Given the description of an element on the screen output the (x, y) to click on. 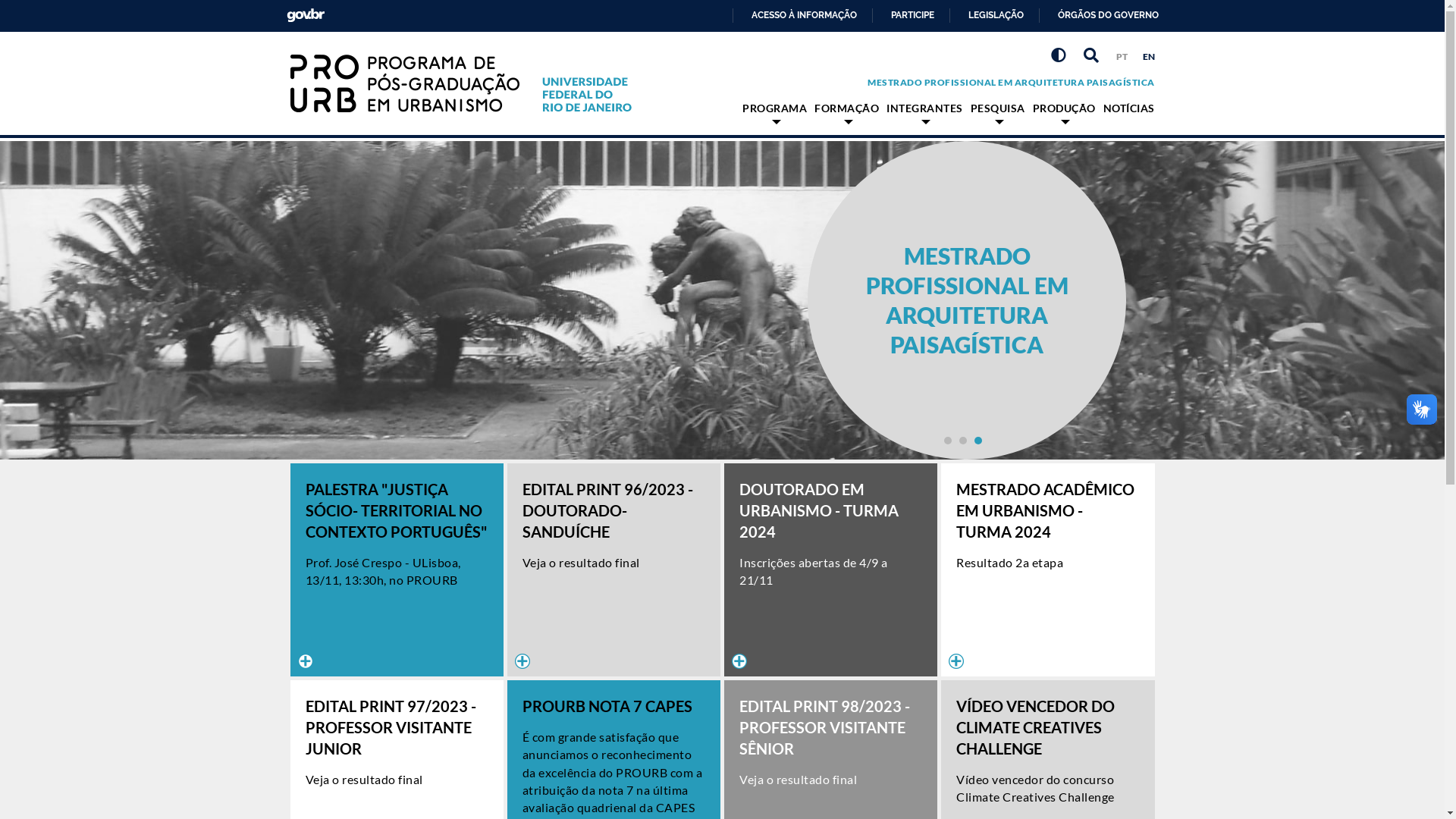
EN Element type: text (1148, 56)
PESQUISA Element type: text (997, 112)
PARTICIPE Element type: text (906, 14)
PROGRAMA Element type: text (774, 112)
INTEGRANTES Element type: text (924, 112)
GOVBR Element type: text (305, 15)
